Given the description of an element on the screen output the (x, y) to click on. 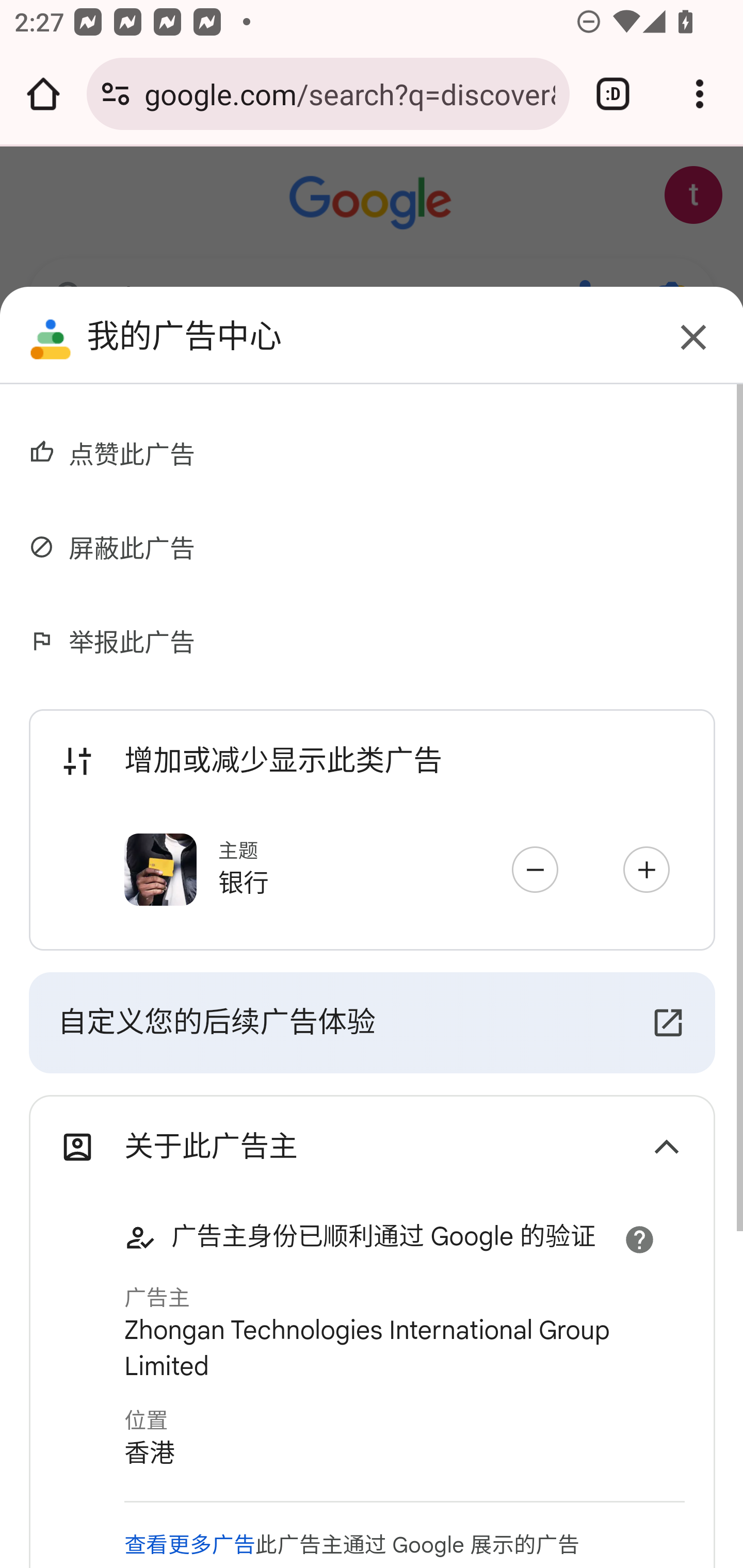
Open the home page (43, 93)
Connection is secure (115, 93)
Switch or close tabs (612, 93)
Customize and control Google Chrome (699, 93)
